Given the description of an element on the screen output the (x, y) to click on. 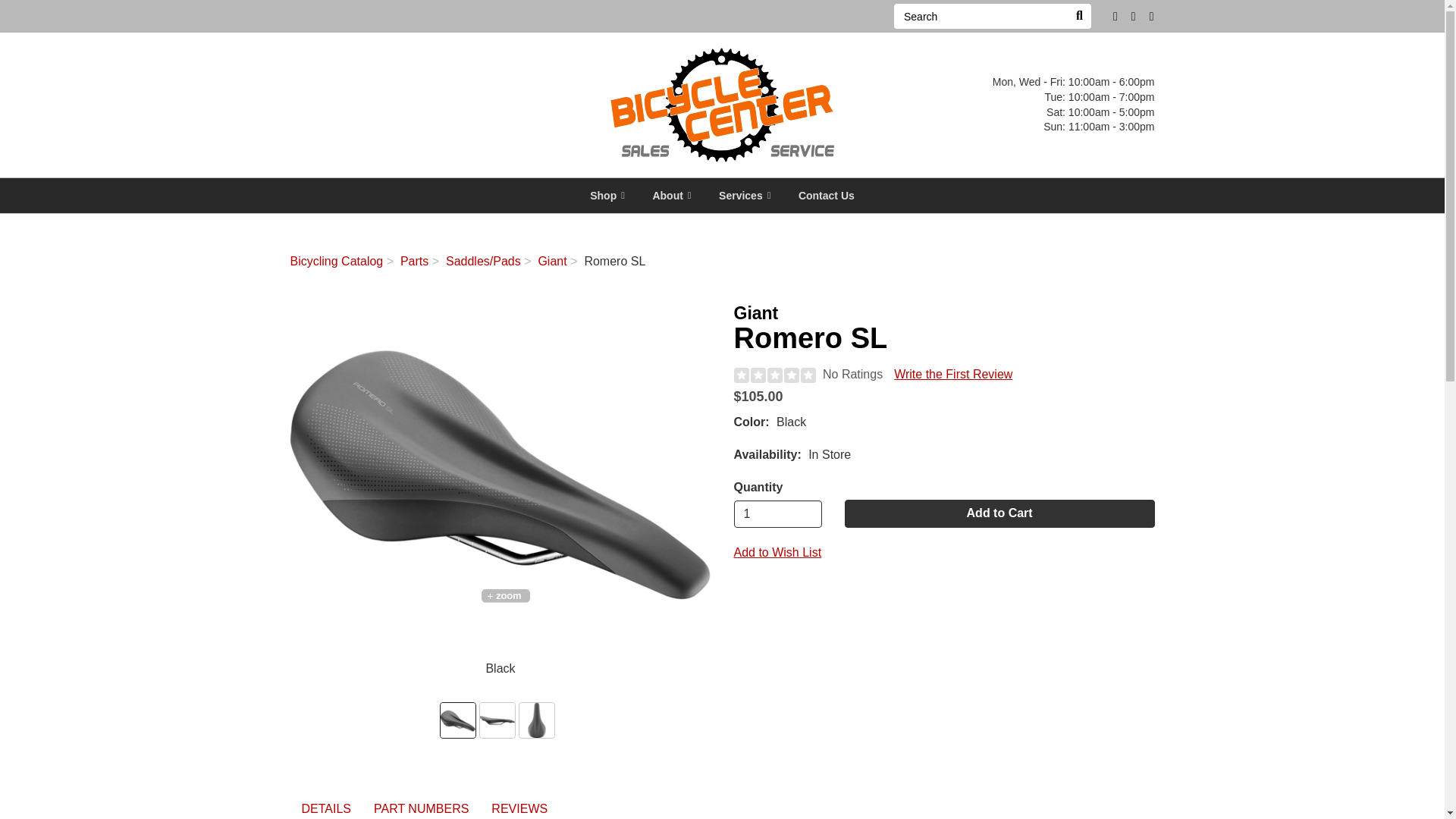
Color: Black (458, 719)
Search (980, 16)
Search (1078, 16)
1 (777, 513)
Giant Romero SL Black (499, 474)
The Bicycle Center Home Page (721, 103)
Shop (607, 195)
